Given the description of an element on the screen output the (x, y) to click on. 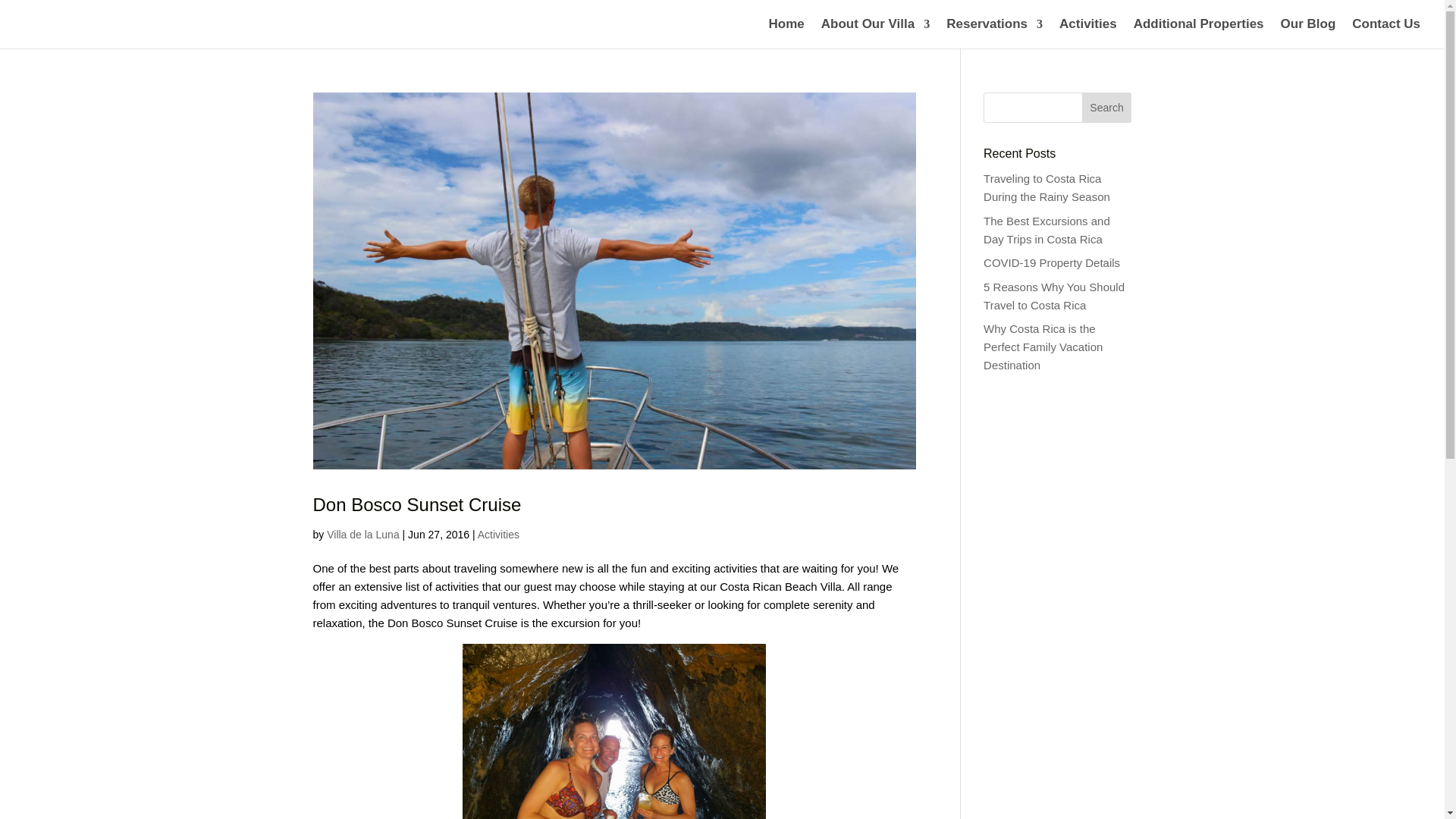
Our Blog (1308, 33)
Additional Properties (1198, 33)
Contact Us (1386, 33)
About Our Villa (875, 33)
Activities (498, 534)
Search (1106, 107)
Traveling to Costa Rica During the Rainy Season (1046, 187)
Reservations (994, 33)
Posts by Villa de la Luna (362, 534)
Activities (1087, 33)
Villa de la Luna (362, 534)
COVID-19 Property Details (1051, 262)
Home (786, 33)
5 Reasons Why You Should Travel to Costa Rica (1054, 296)
The Best Excursions and Day Trips in Costa Rica (1046, 229)
